Given the description of an element on the screen output the (x, y) to click on. 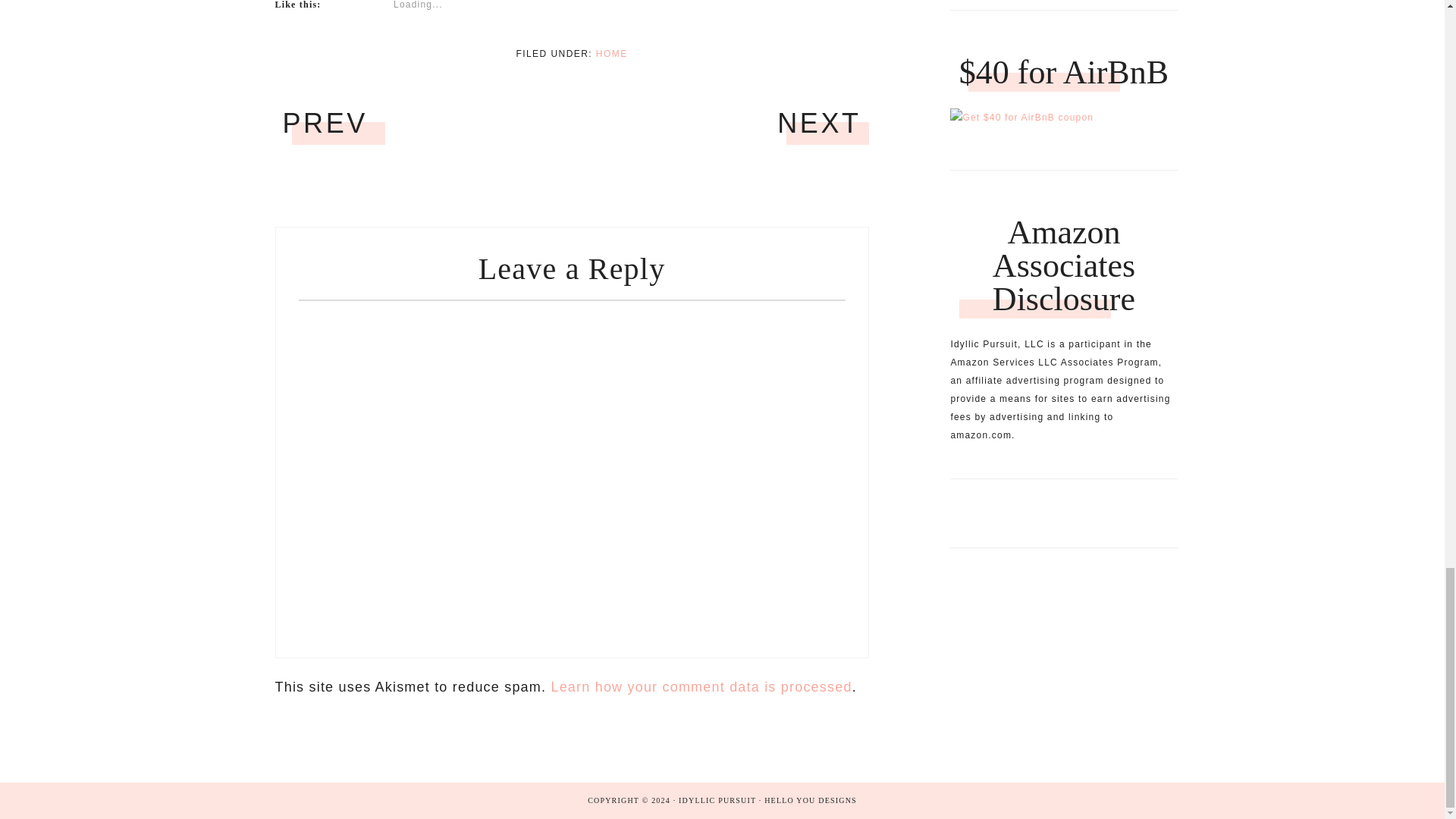
PREV (324, 122)
HOME (611, 53)
Learn how your comment data is processed (700, 686)
HELLO YOU DESIGNS (810, 800)
NEXT (818, 122)
